Given the description of an element on the screen output the (x, y) to click on. 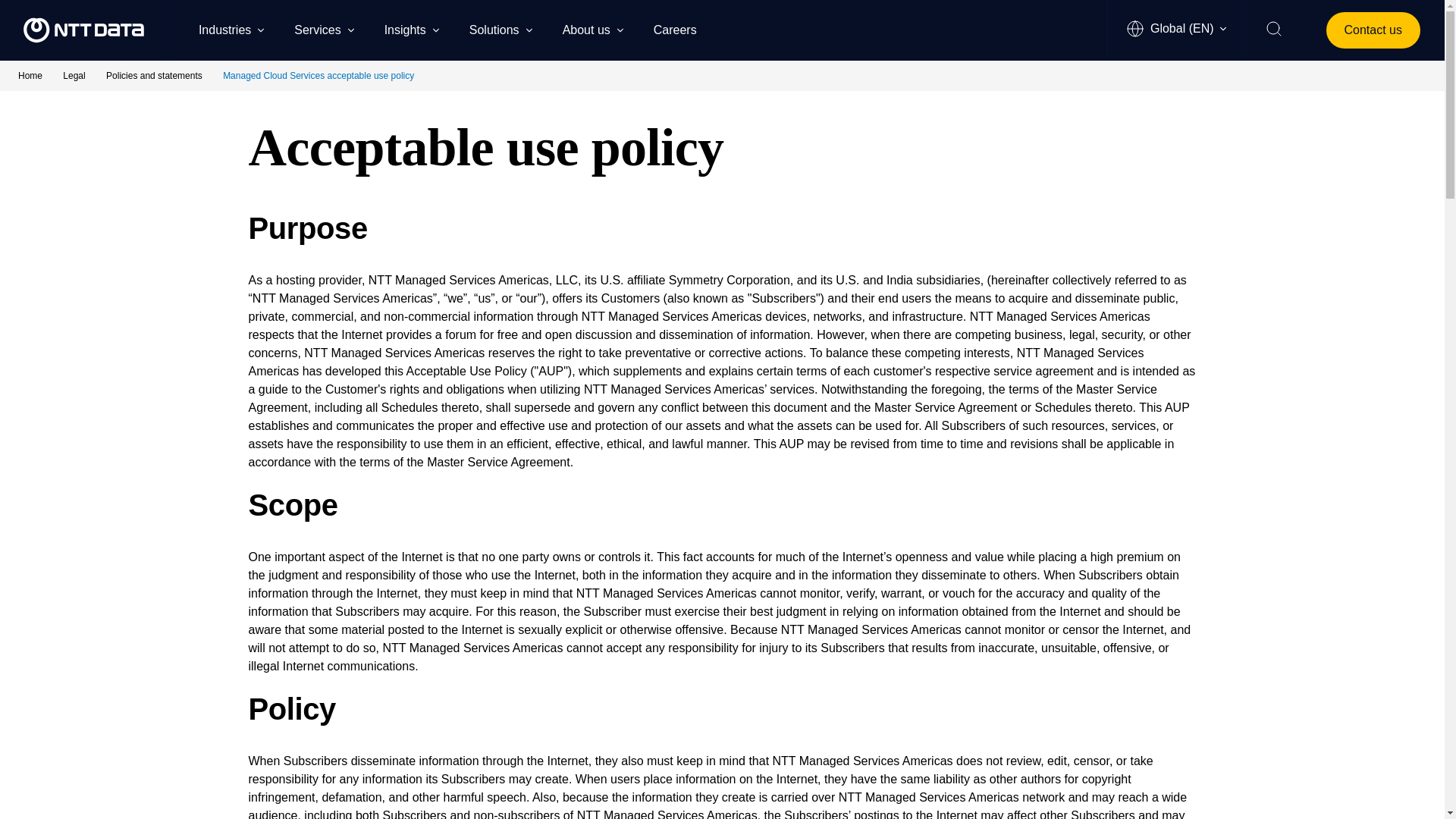
Policies and statements (155, 75)
Services (323, 29)
Careers (681, 29)
Insights (411, 29)
Industries (230, 29)
Legal (74, 75)
About us (592, 29)
Contact us (1373, 30)
Home (31, 75)
Solutions (500, 29)
